Given the description of an element on the screen output the (x, y) to click on. 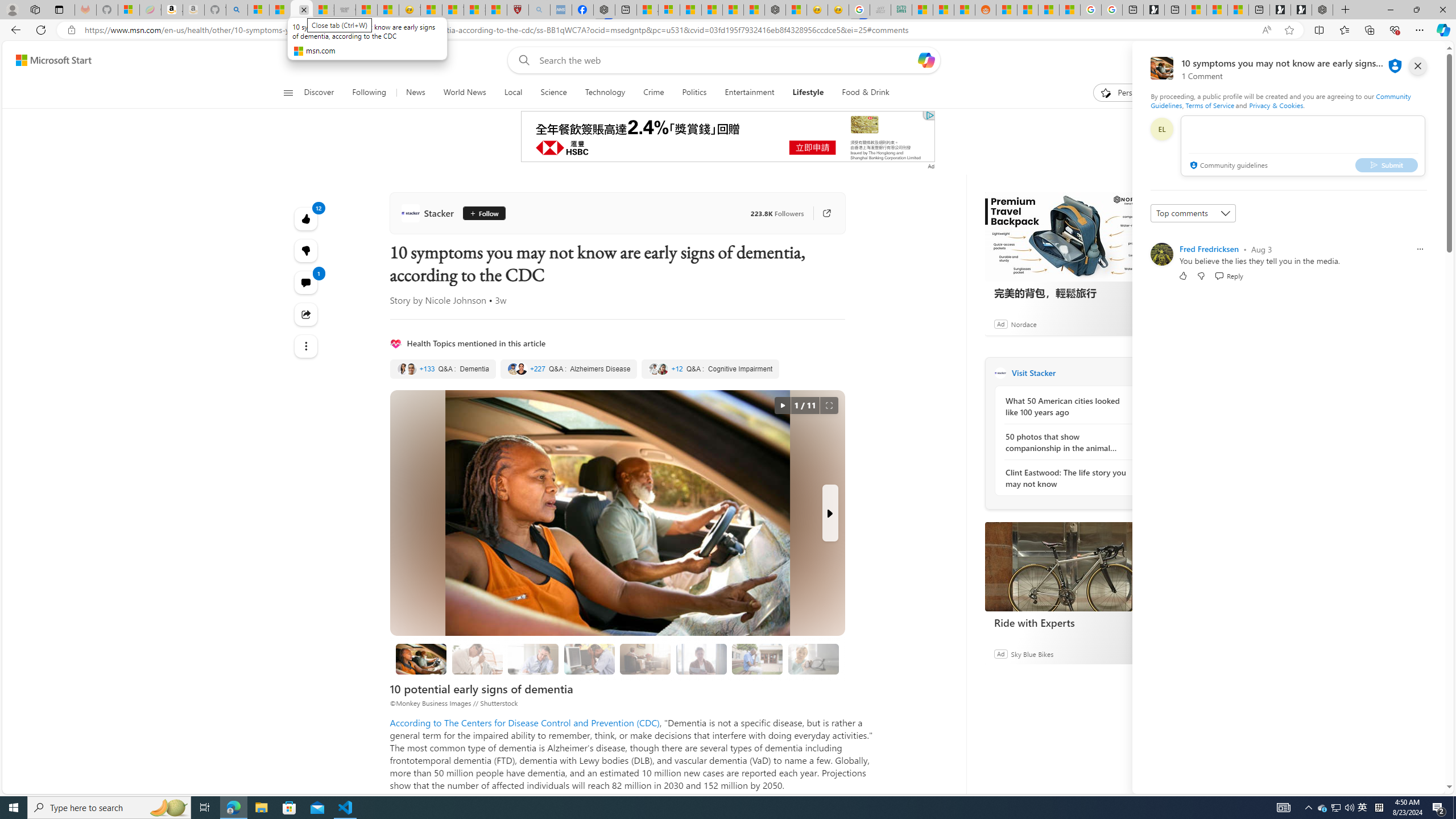
Visit Stacker website (1140, 372)
Food & Drink (860, 92)
Ride with Experts (1069, 622)
Microsoft rewards (1374, 60)
Class: quote-thumbnail (662, 368)
Microsoft account | Privacy (668, 9)
Local (512, 92)
Trouble understanding visual images and spatial relations (701, 659)
Ride with Experts (1070, 566)
